Given the description of an element on the screen output the (x, y) to click on. 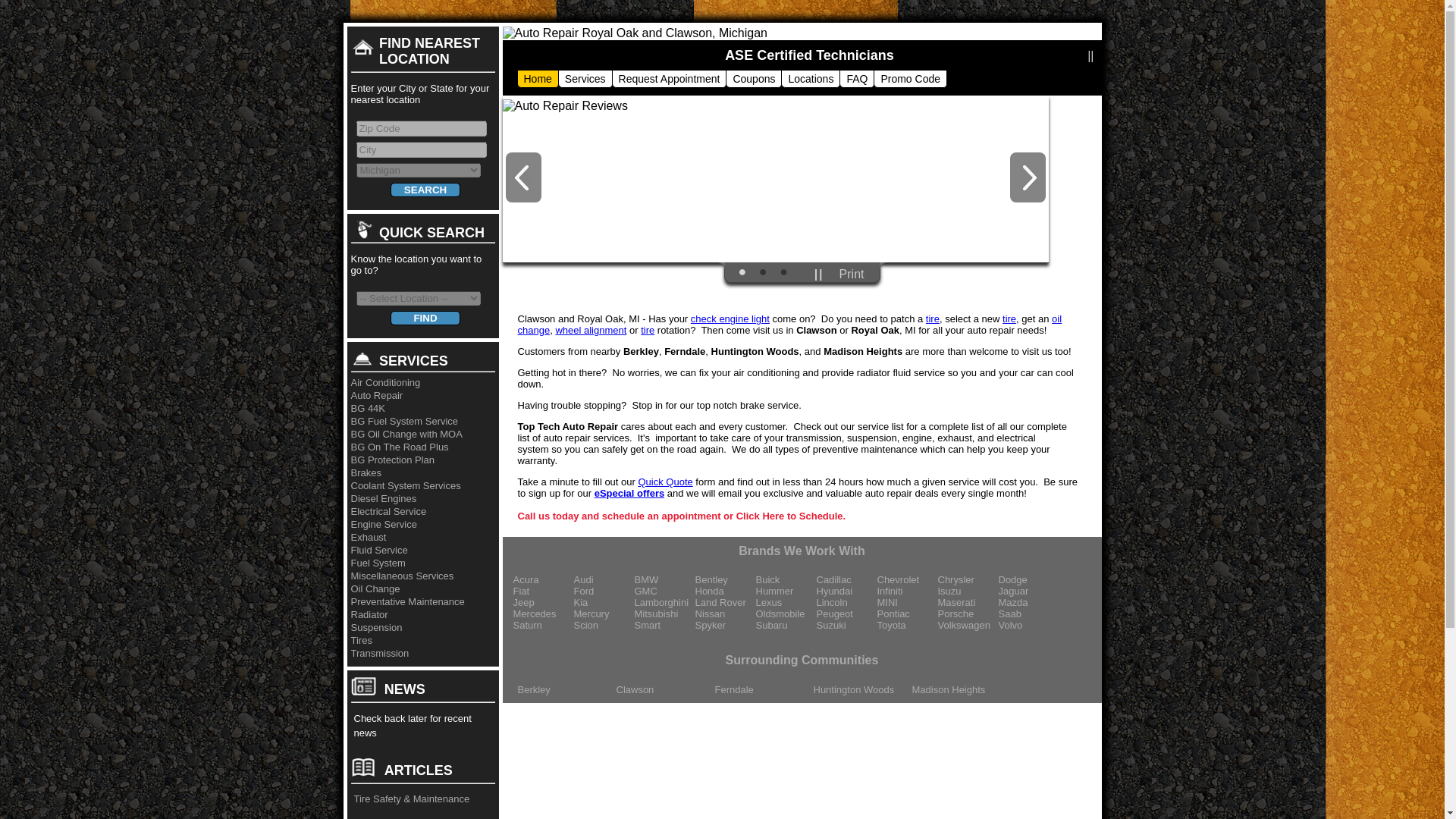
Quick Quote (665, 481)
Buick (785, 579)
eSpecial offers (629, 492)
Locations (809, 78)
Chevrolet (906, 579)
Promo Code (910, 78)
Acura (542, 579)
FAQ (856, 78)
wheel alignment (590, 329)
Chrysler (967, 579)
Print (852, 274)
Coupons (753, 78)
GMC (663, 591)
Dodge (1027, 579)
Fiat (542, 591)
